Given the description of an element on the screen output the (x, y) to click on. 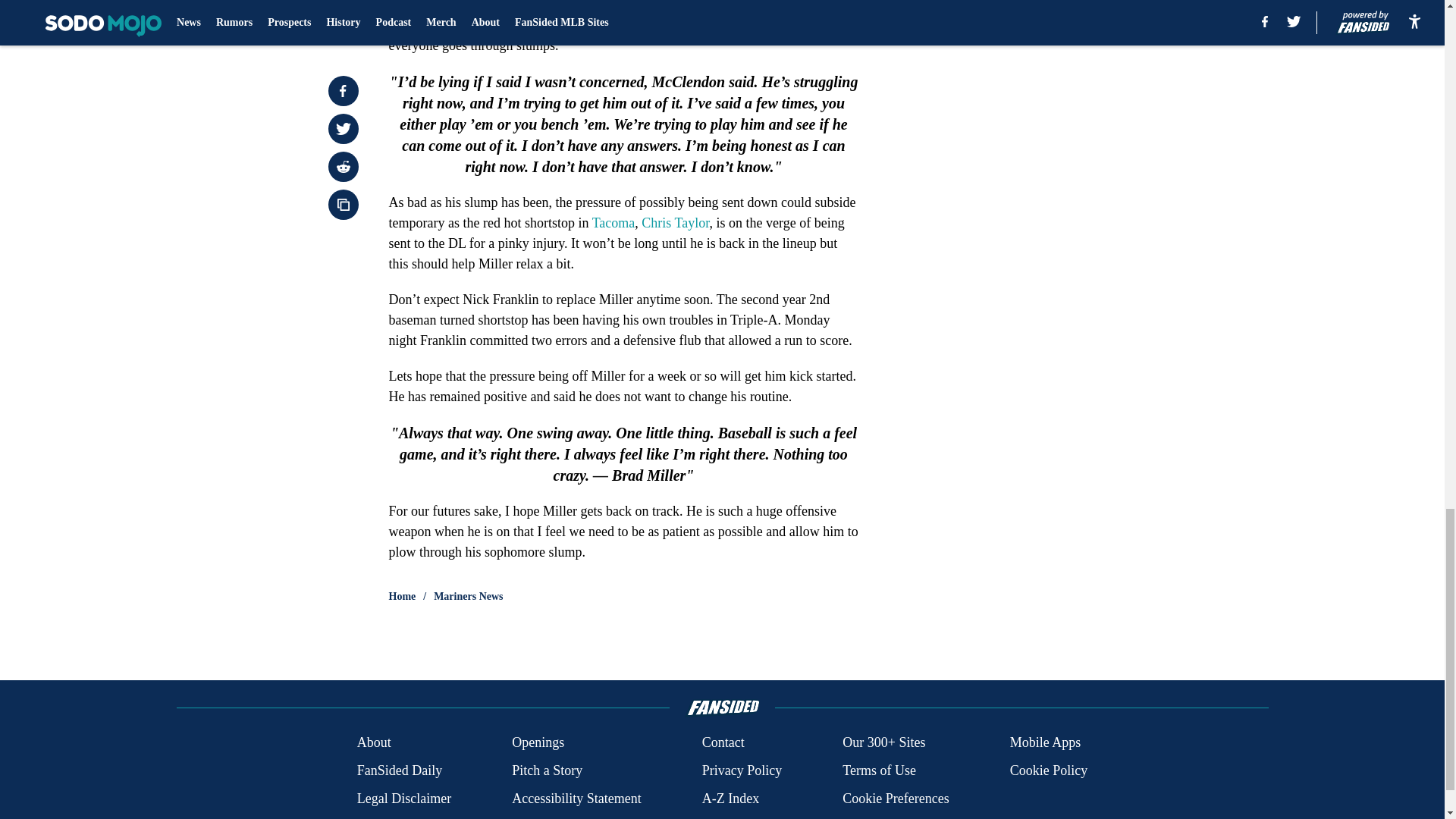
Contact (722, 742)
FanSided Daily (399, 770)
Mobile Apps (1045, 742)
Privacy Policy (742, 770)
Cookie Policy (1048, 770)
Tacoma (613, 222)
Lloyd McClendon (491, 24)
About (373, 742)
Home (401, 596)
Pitch a Story (547, 770)
